Given the description of an element on the screen output the (x, y) to click on. 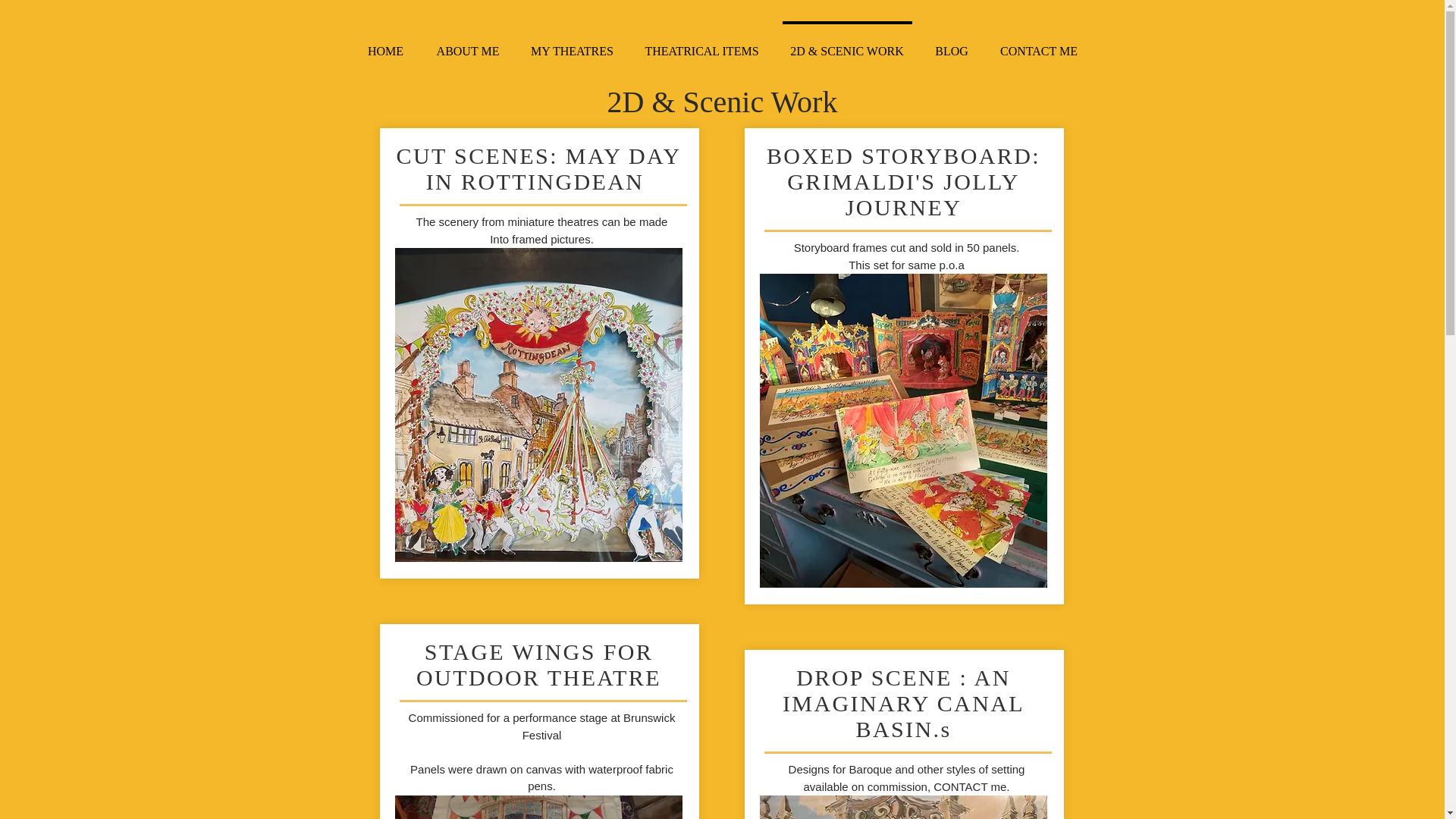
MY THEATRES (571, 44)
ABOUT ME (467, 44)
BLOG (951, 44)
CONTACT ME (1039, 44)
HOME (385, 44)
THEATRICAL ITEMS (701, 44)
